Given the description of an element on the screen output the (x, y) to click on. 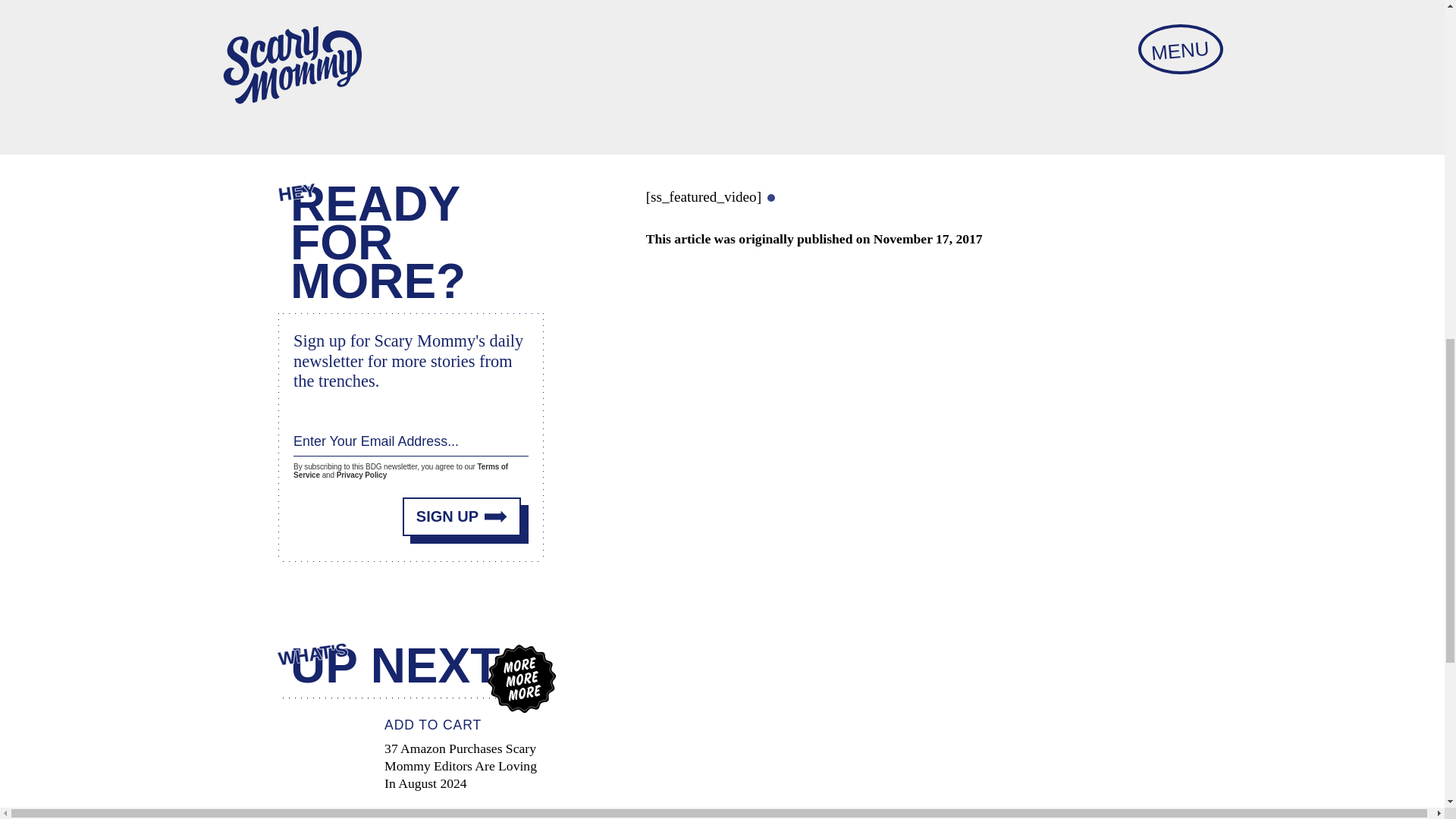
Terms of Service (401, 463)
Privacy Policy (361, 470)
SIGN UP (462, 507)
